Given the description of an element on the screen output the (x, y) to click on. 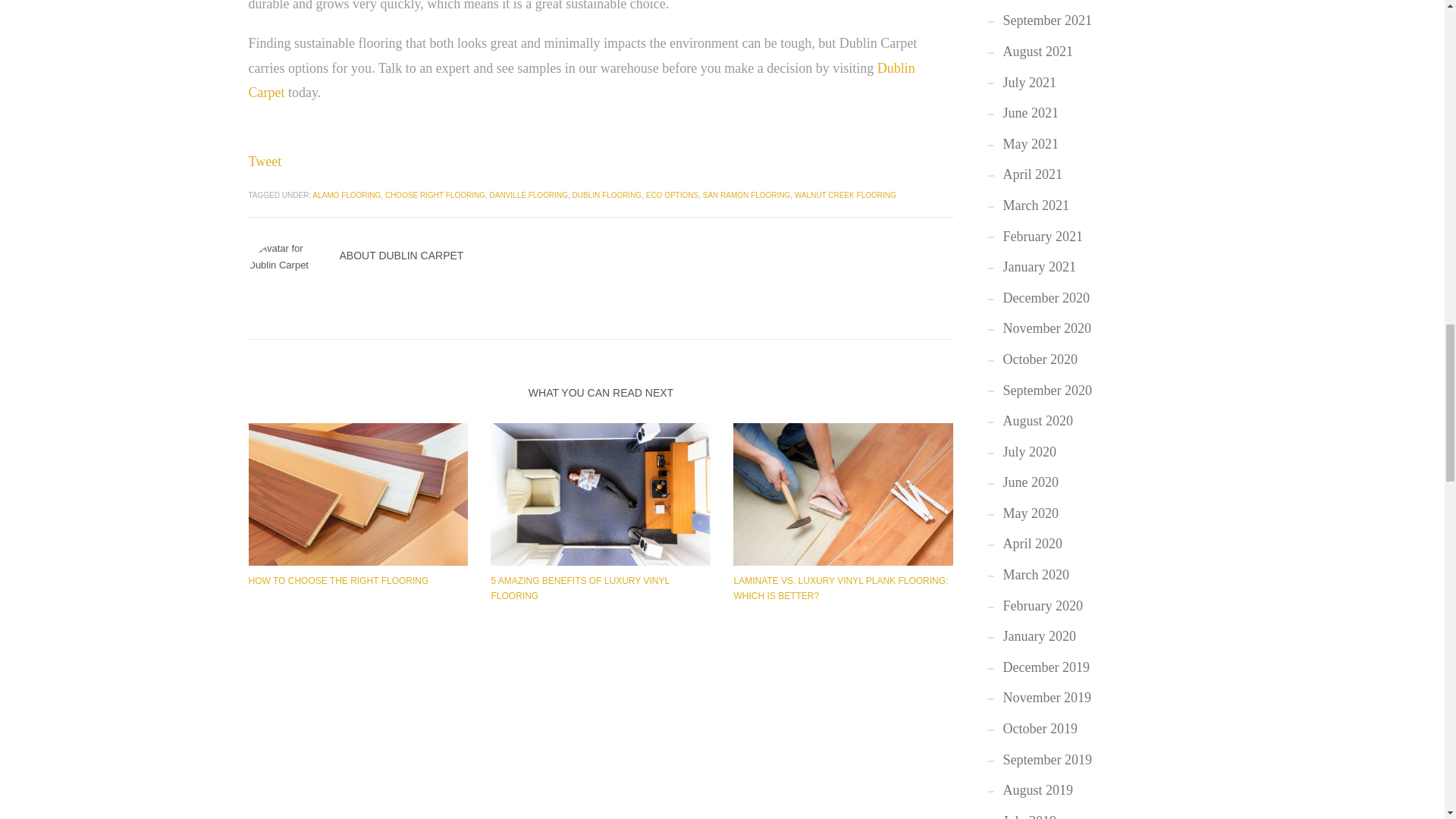
DANVILLE FLOORING (528, 194)
Dublin Carpet (581, 79)
Livermore Area Rugs (843, 494)
5 AMAZING BENEFITS OF LUXURY VINYL FLOORING (579, 588)
HOW TO CHOOSE THE RIGHT FLOORING (338, 580)
ECO OPTIONS (672, 194)
WALNUT CREEK FLOORING (845, 194)
ALAMO FLOORING (346, 194)
LAMINATE VS. LUXURY VINYL PLANK FLOORING: WHICH IS BETTER? (840, 588)
CHOOSE RIGHT FLOORING (434, 194)
San Ramon Area Rugs (600, 494)
Tweet (265, 160)
SAN RAMON FLOORING (746, 194)
Gravatar for Dublin Carpet (286, 278)
DUBLIN FLOORING (607, 194)
